Given the description of an element on the screen output the (x, y) to click on. 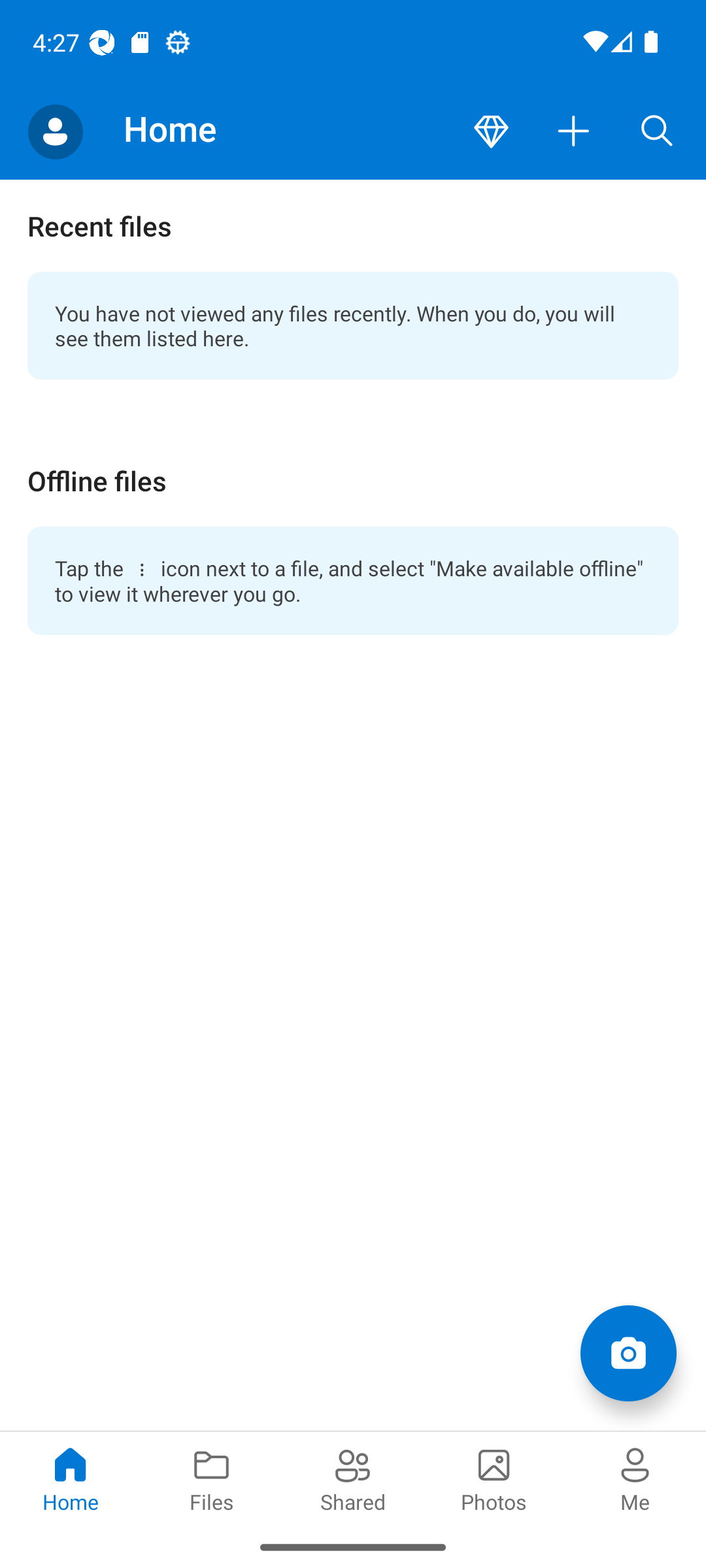
Account switcher (55, 131)
Premium button (491, 131)
More actions button (574, 131)
Search button (656, 131)
Scan (628, 1352)
Files pivot Files (211, 1478)
Shared pivot Shared (352, 1478)
Photos pivot Photos (493, 1478)
Me pivot Me (635, 1478)
